Given the description of an element on the screen output the (x, y) to click on. 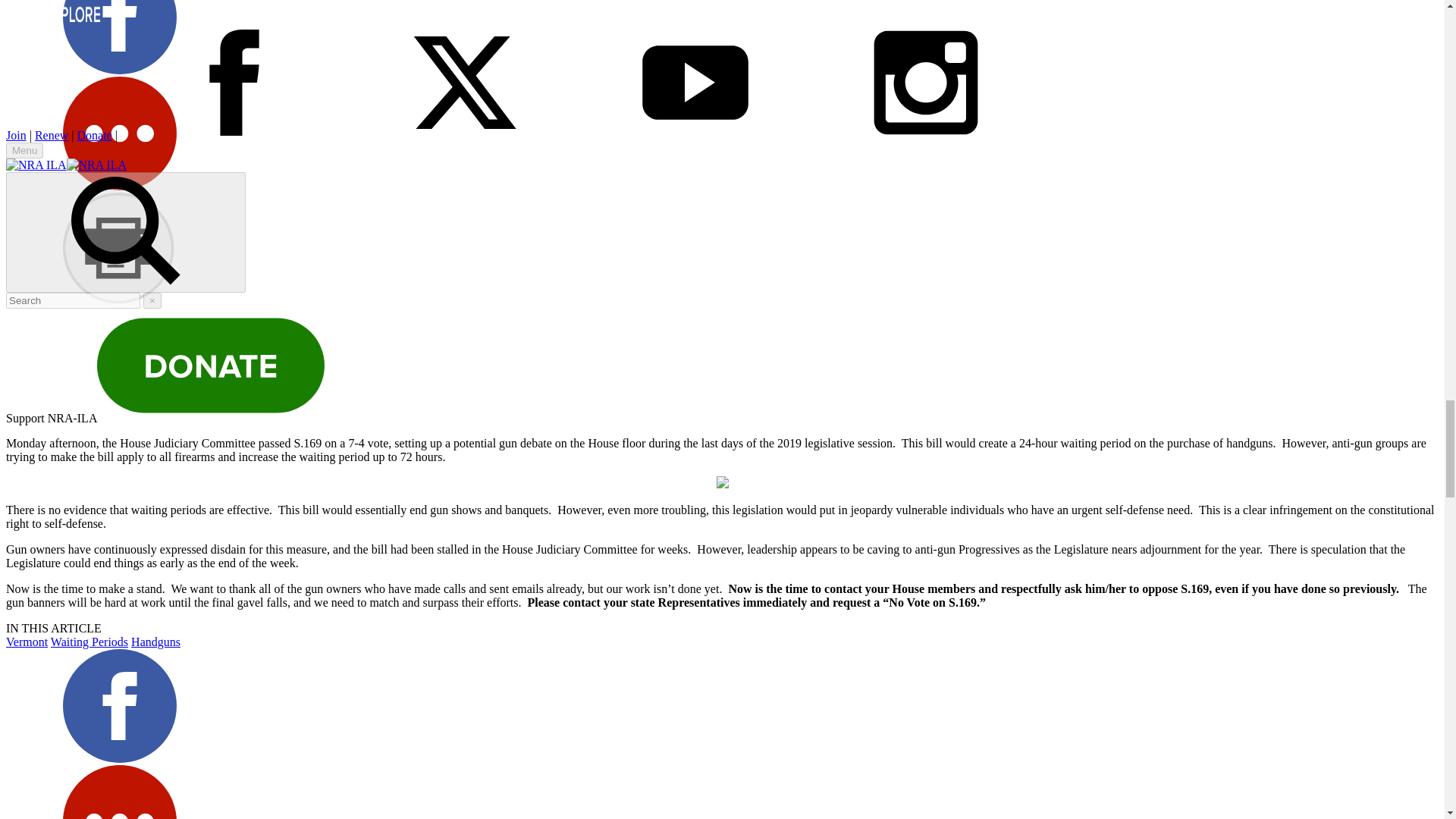
Facebook (118, 758)
Facebook (118, 37)
Donate (210, 365)
Print (118, 249)
Print (118, 301)
More (118, 133)
Facebook (118, 705)
Facebook (118, 69)
